Given the description of an element on the screen output the (x, y) to click on. 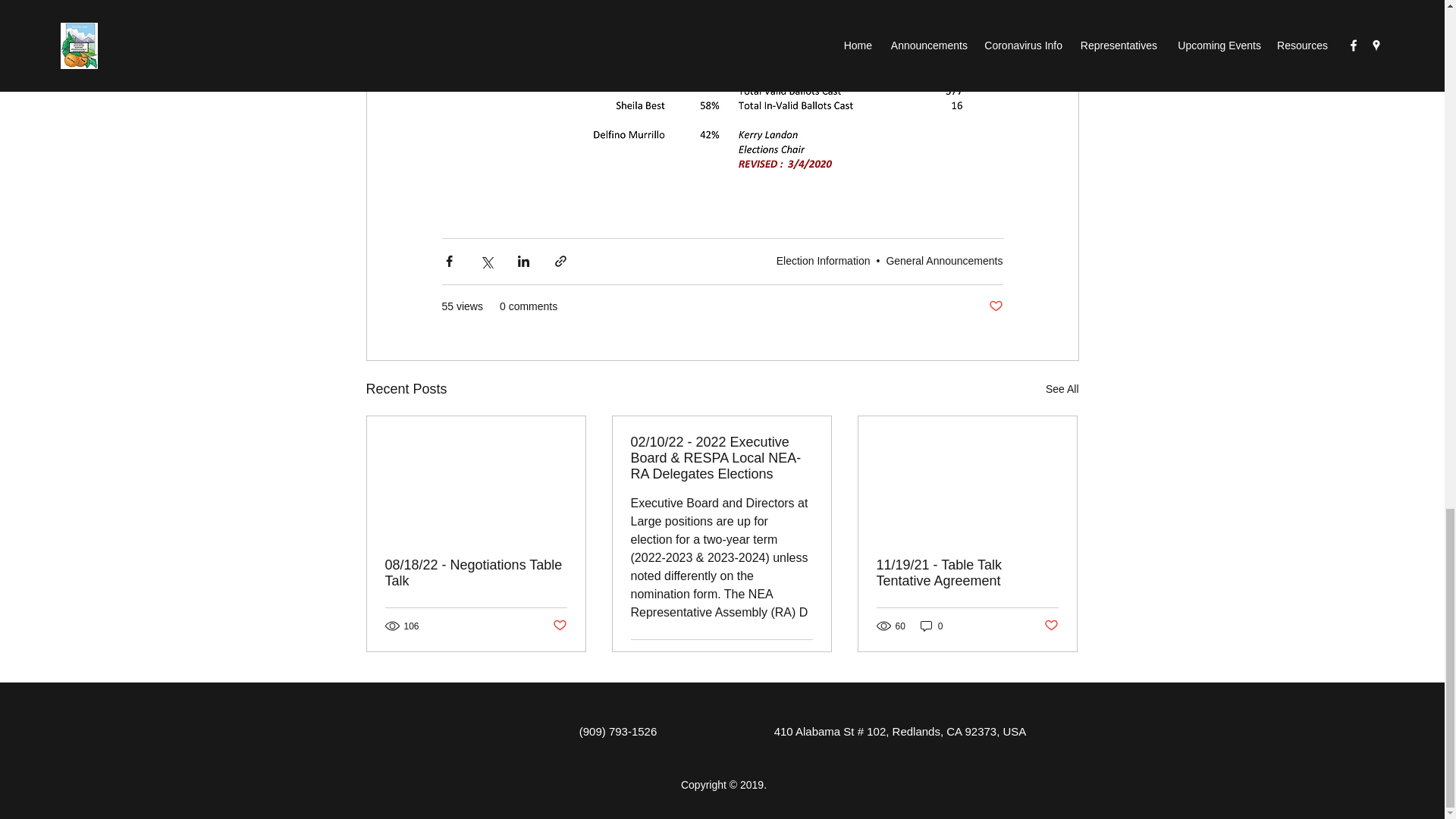
Post not marked as liked (558, 625)
See All (1061, 389)
General Announcements (944, 260)
Post not marked as liked (995, 306)
Election Information (823, 260)
